Given the description of an element on the screen output the (x, y) to click on. 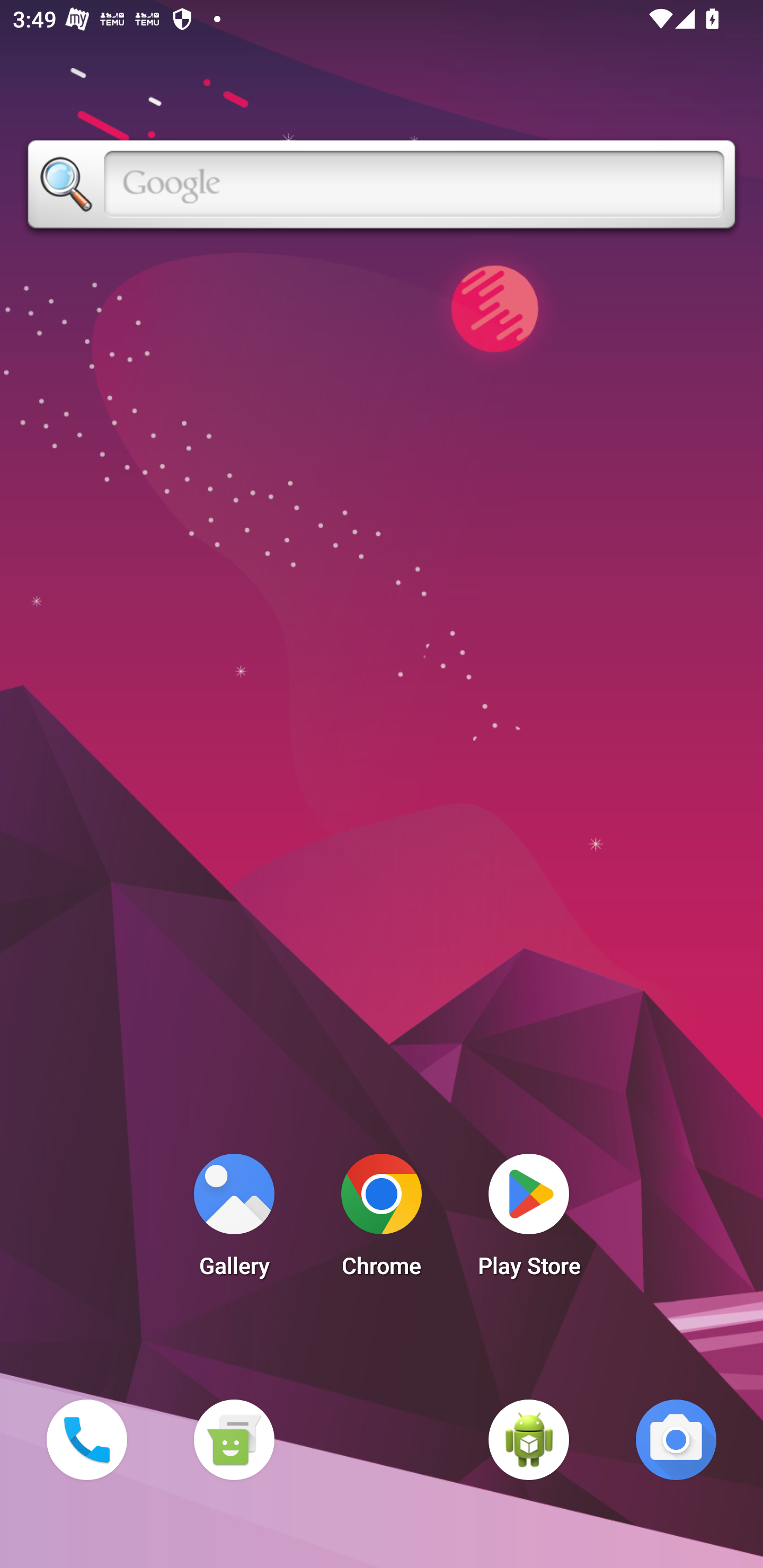
Gallery (233, 1220)
Chrome (381, 1220)
Play Store (528, 1220)
Phone (86, 1439)
Messaging (233, 1439)
WebView Browser Tester (528, 1439)
Camera (676, 1439)
